Given the description of an element on the screen output the (x, y) to click on. 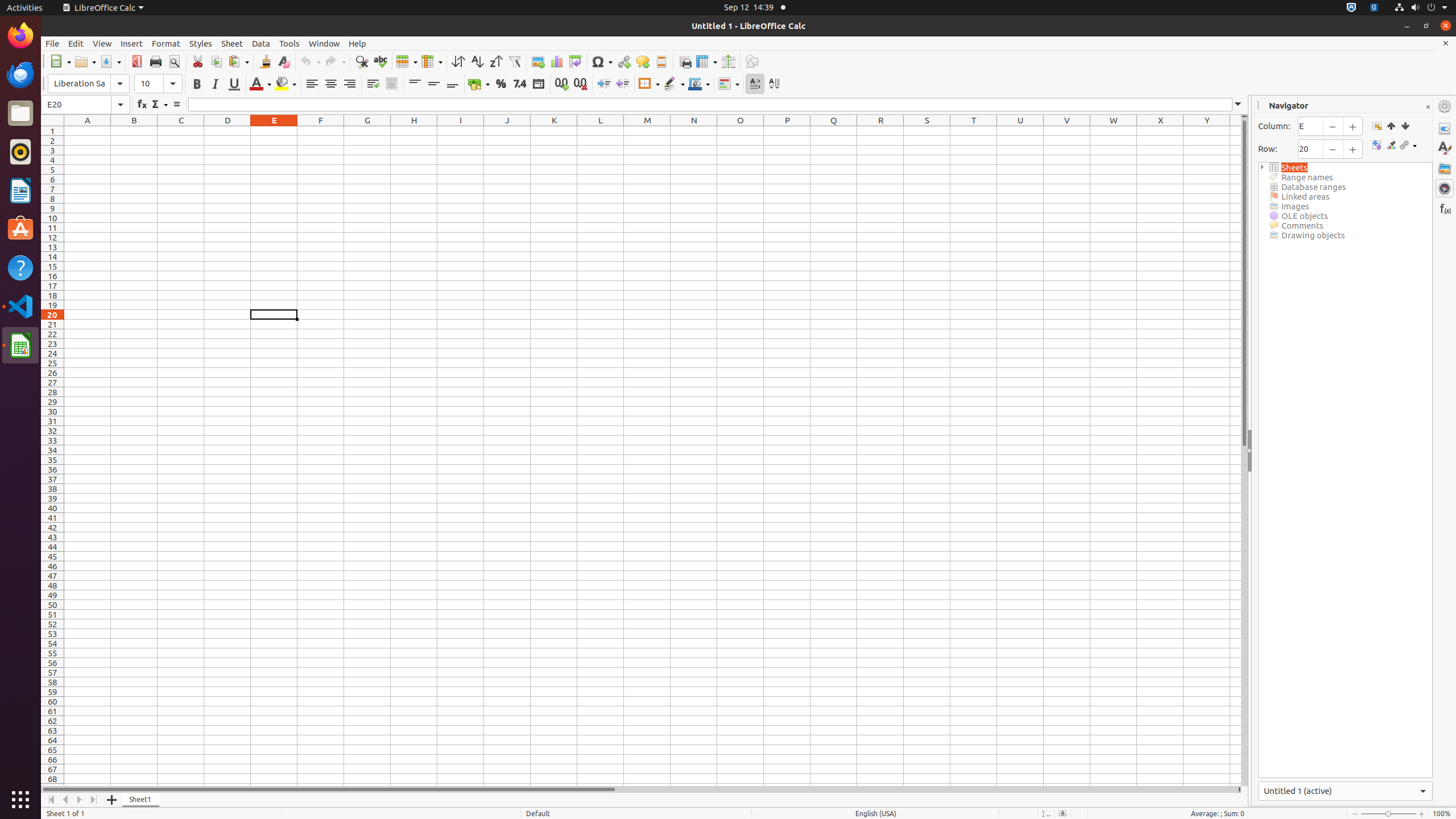
Spelling Element type: push-button (379, 61)
H1 Element type: table-cell (413, 130)
Pivot Table Element type: push-button (574, 61)
J1 Element type: table-cell (507, 130)
Format Element type: menu (165, 43)
